Given the description of an element on the screen output the (x, y) to click on. 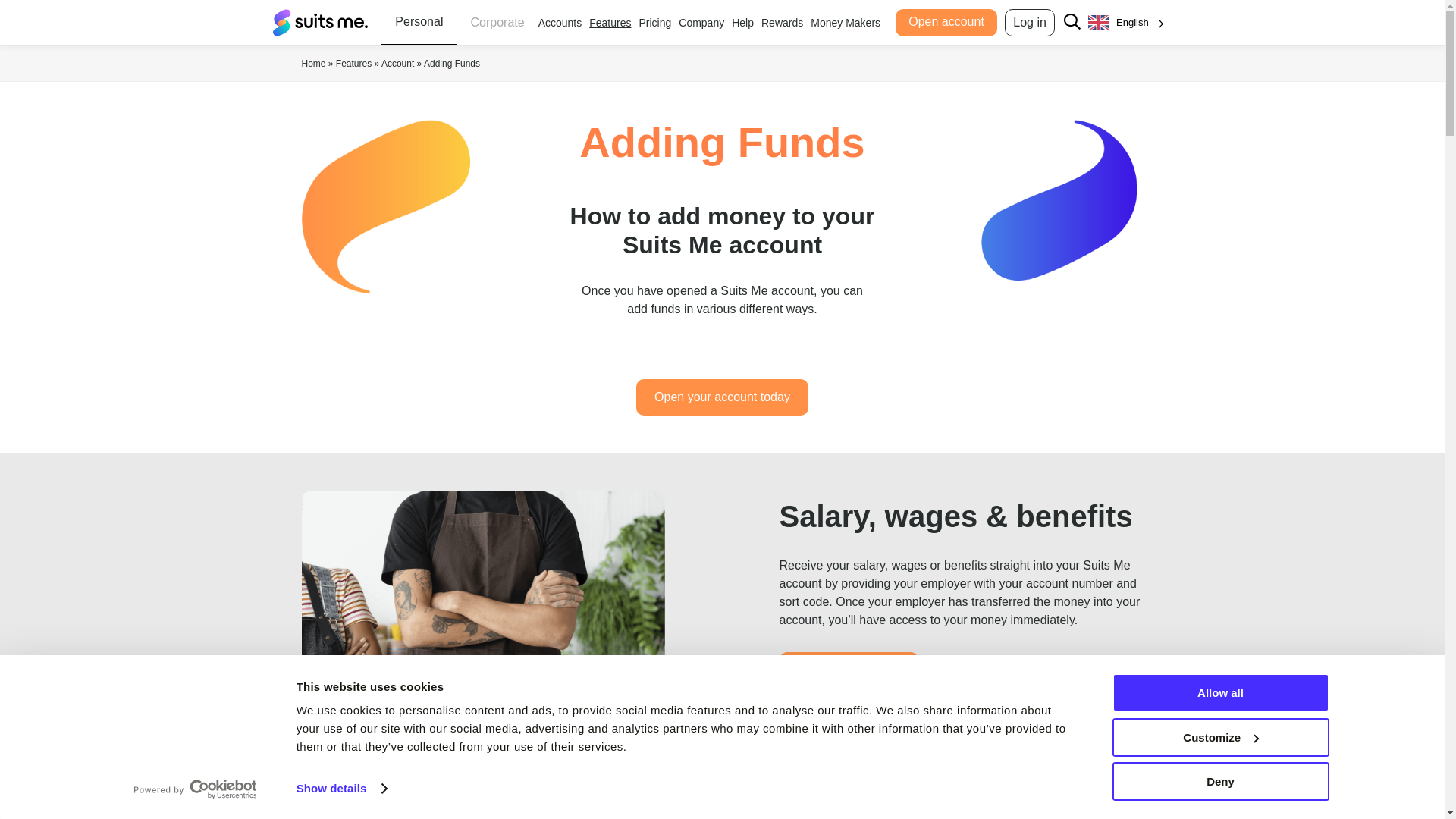
Show details (341, 788)
